Given the description of an element on the screen output the (x, y) to click on. 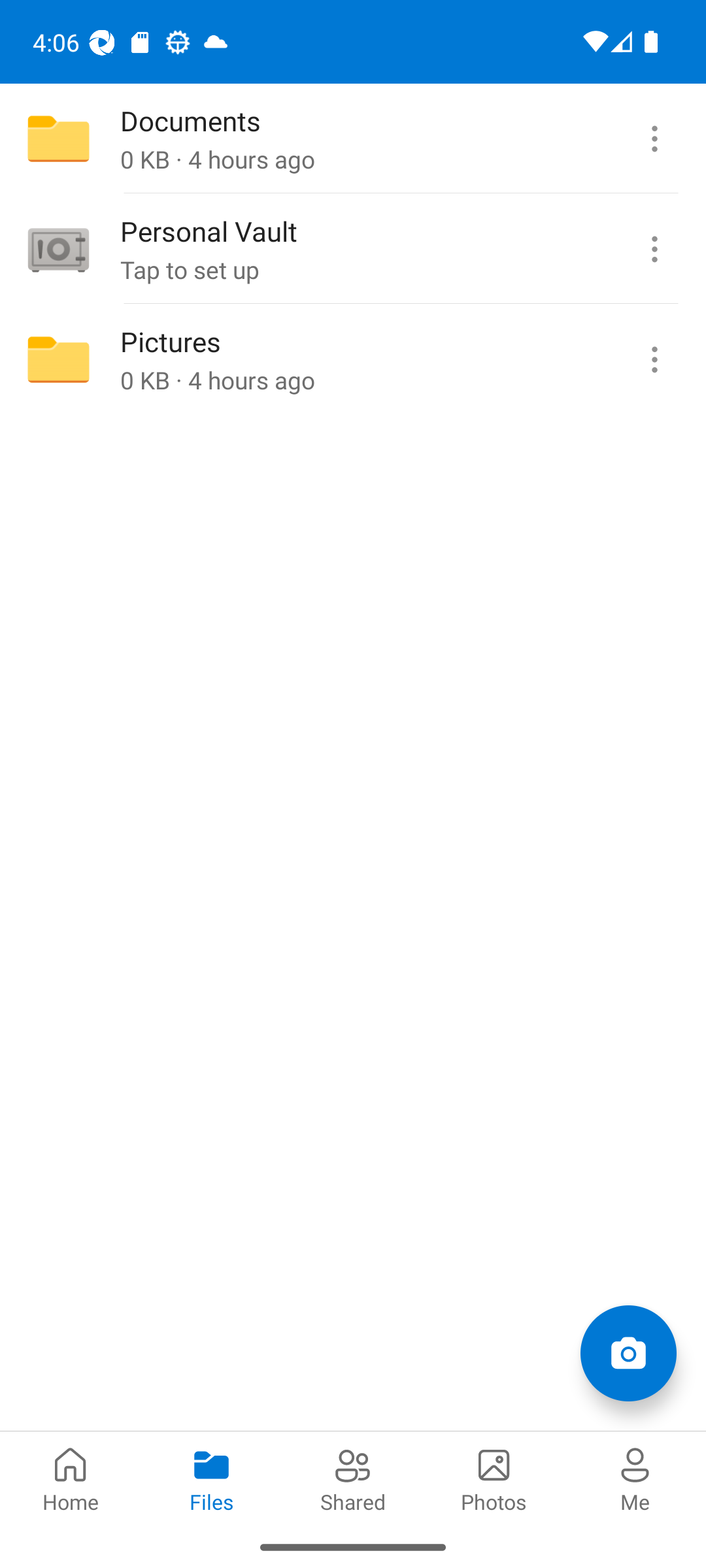
Documents commands (654, 138)
Personal Vault commands (654, 249)
Pictures commands (654, 359)
Add items Scan (628, 1352)
Home pivot Home (70, 1478)
Shared pivot Shared (352, 1478)
Photos pivot Photos (493, 1478)
Me pivot Me (635, 1478)
